Given the description of an element on the screen output the (x, y) to click on. 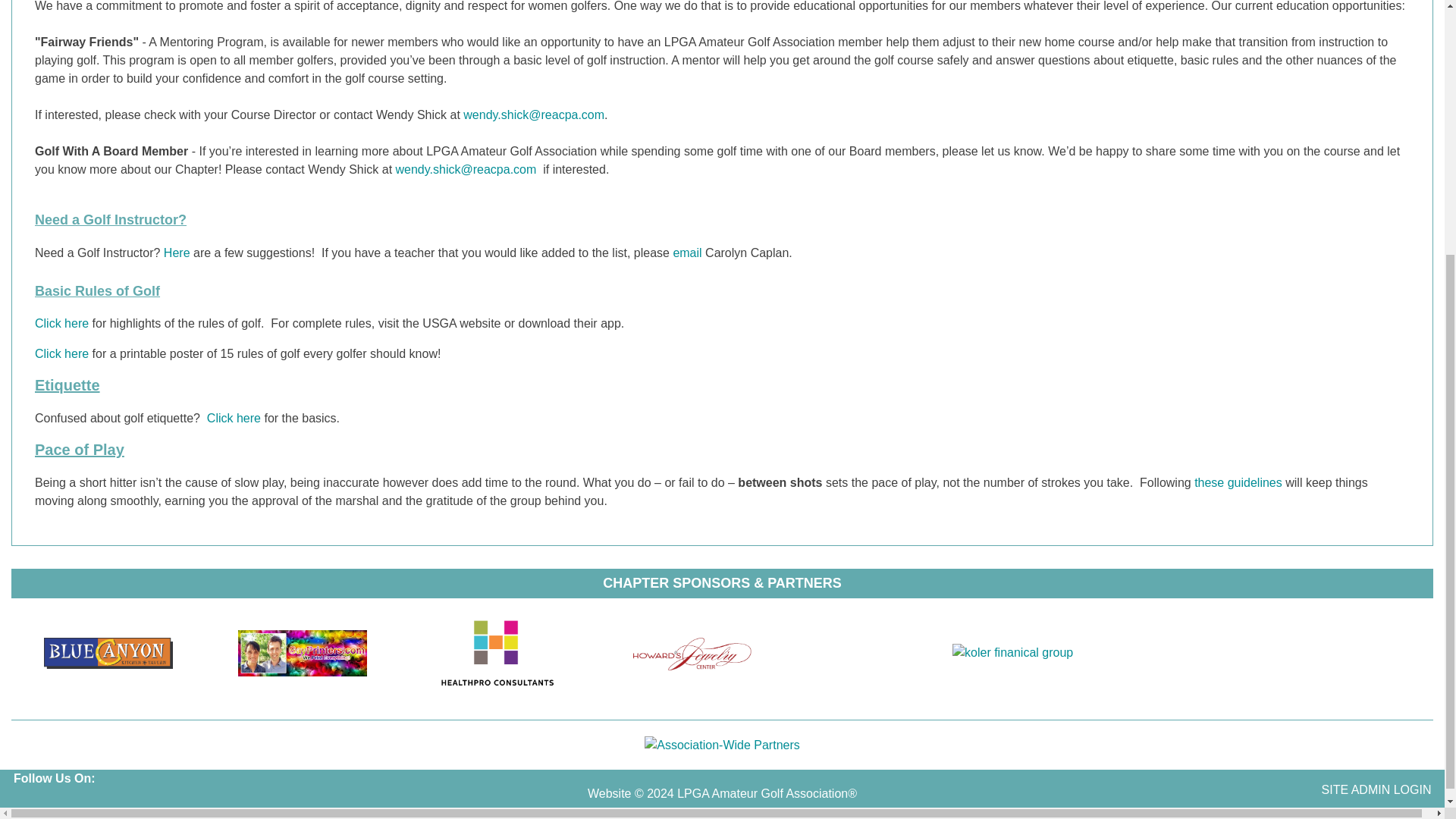
email (686, 252)
francino-page-001 (1334, 652)
Click here (61, 323)
gay printers com banner (302, 653)
Here (176, 252)
Blue Canyon (108, 653)
Olson Travel Group (1203, 652)
Newsletter (106, 801)
Click here (61, 353)
Howards Jewelry Center (691, 652)
